Given the description of an element on the screen output the (x, y) to click on. 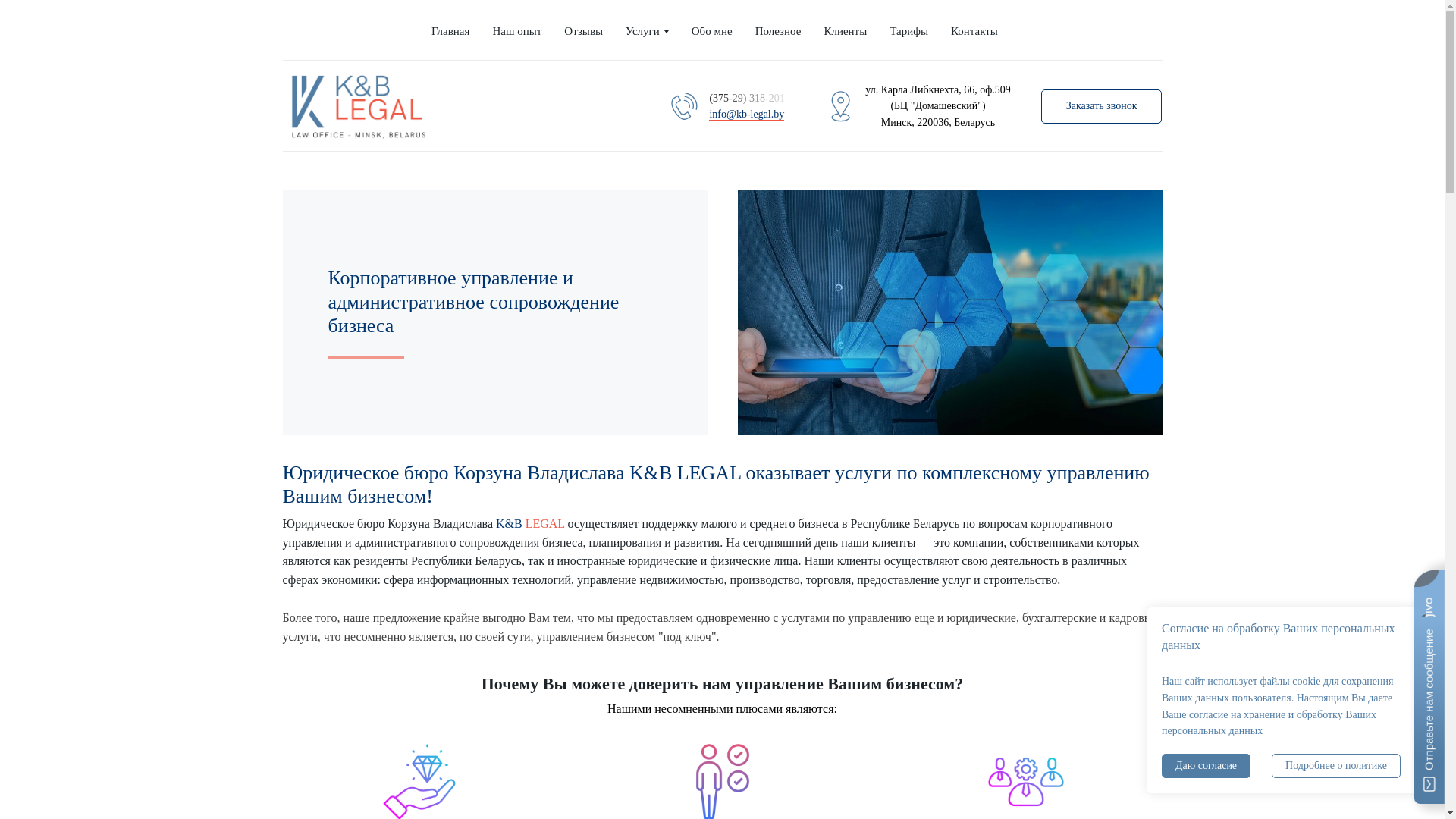
(375-29) 318-201- Element type: text (751, 97)
info@kb-legal.by Element type: text (746, 114)
